Given the description of an element on the screen output the (x, y) to click on. 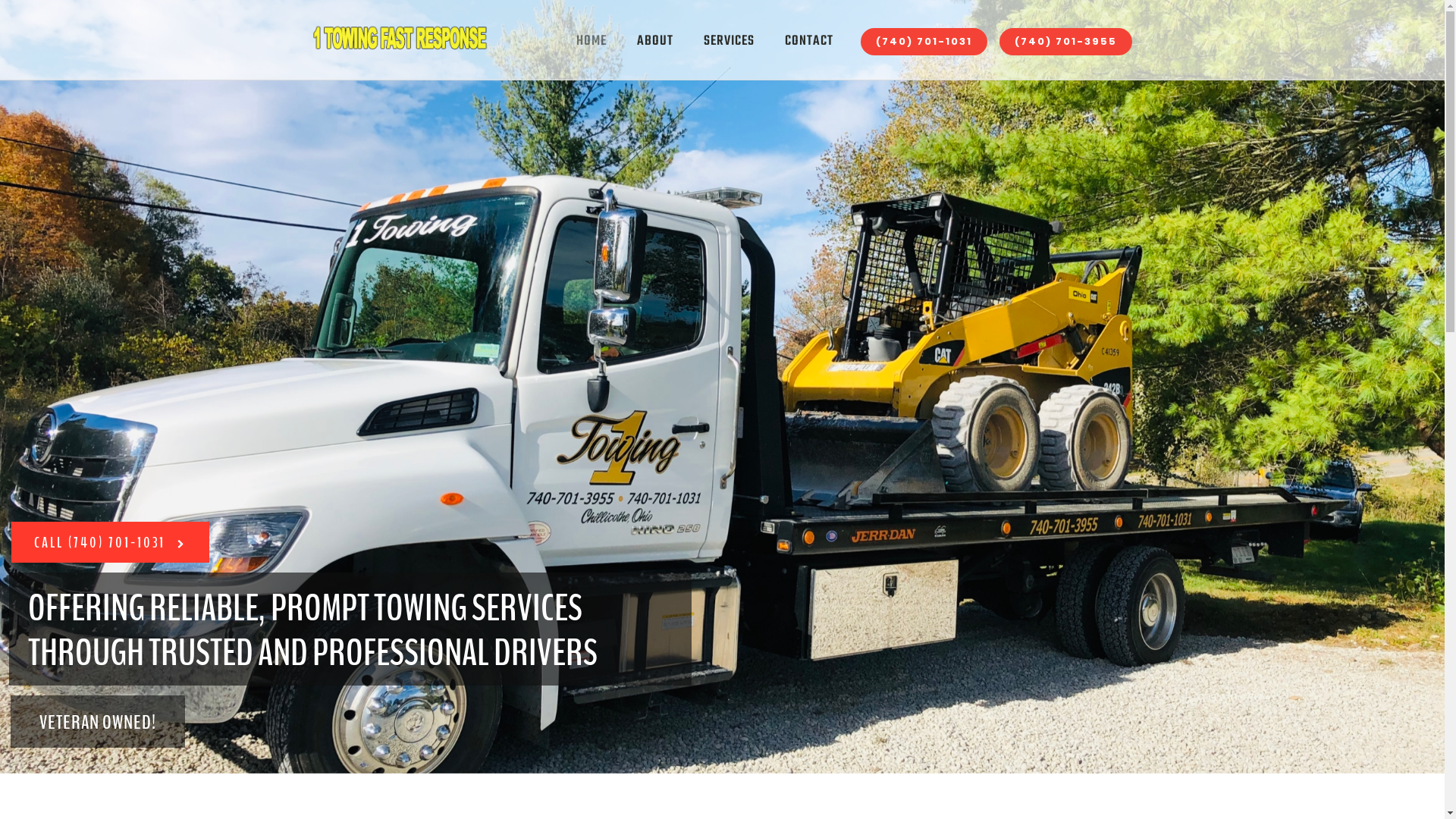
SERVICES Element type: text (728, 41)
HOME Element type: text (591, 41)
(740) 701-1031 Element type: text (922, 41)
(740) 701-3955 Element type: text (1065, 41)
CALL (740) 701-1031 Element type: text (110, 541)
ABOUT Element type: text (654, 41)
CONTACT Element type: text (807, 41)
